Given the description of an element on the screen output the (x, y) to click on. 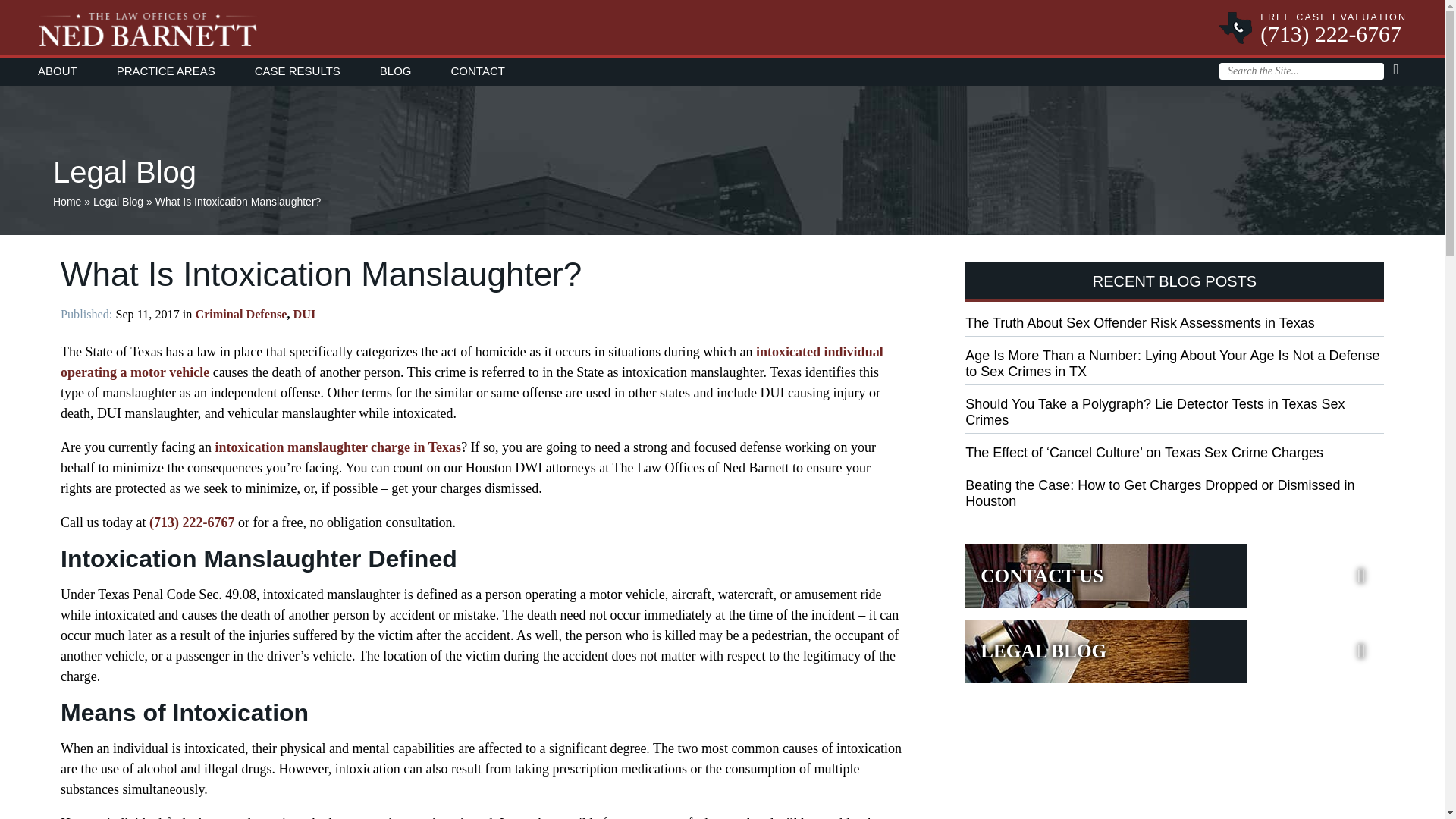
Contact us today (1174, 576)
PRACTICE AREAS (165, 69)
Call The Law Offices of Ned Barnett Today (191, 522)
Law Offices of Ned Barnett (721, 23)
Call The Law Offices of Ned Barnett Today (1333, 41)
ABOUT (67, 69)
intoxicated manslaughter lawyer (337, 447)
Legal Blog (1174, 651)
DWI lawyers (472, 361)
